Given the description of an element on the screen output the (x, y) to click on. 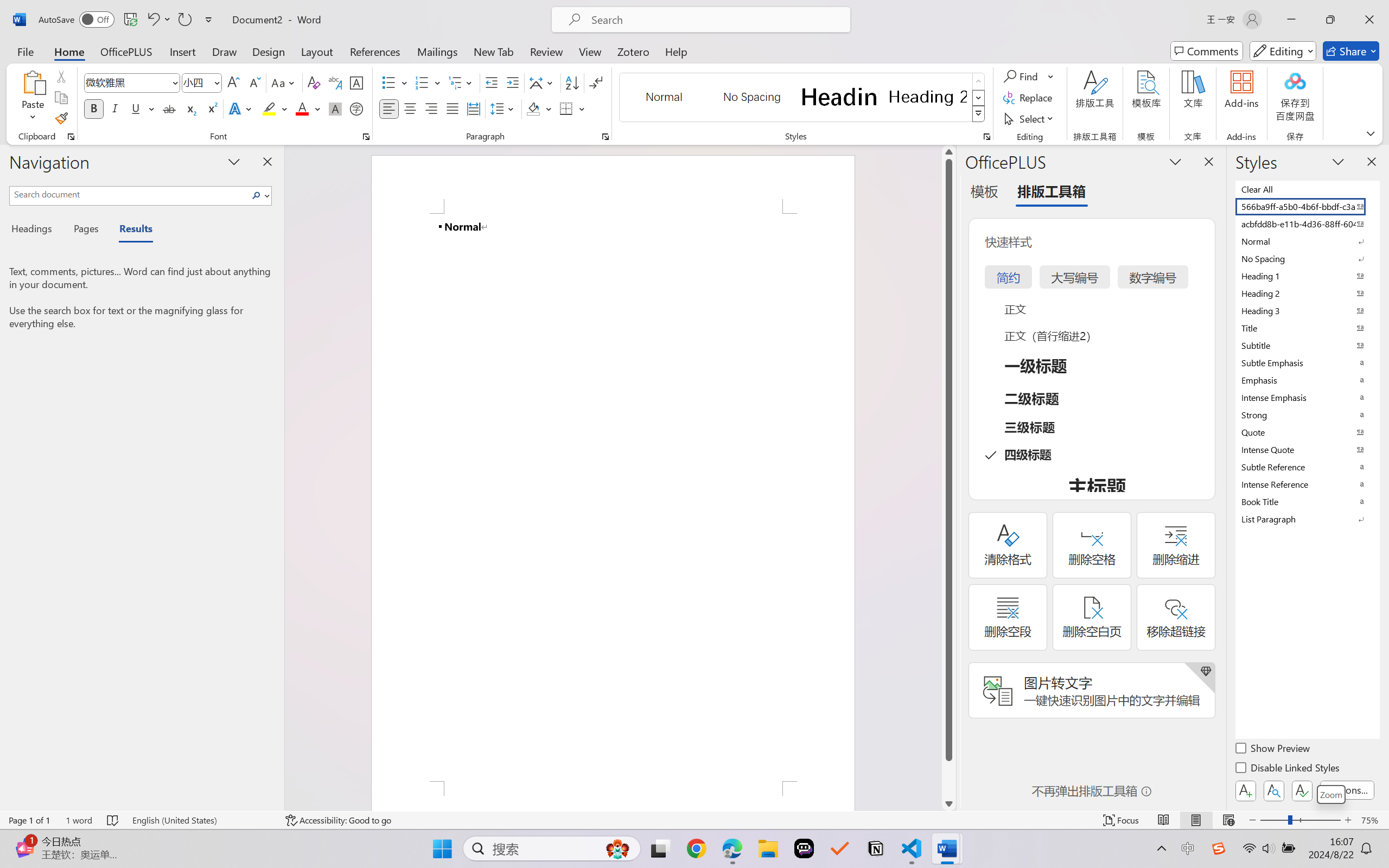
OfficePLUS (126, 51)
Superscript (210, 108)
Emphasis (1306, 379)
Shading (539, 108)
Line up (948, 151)
Intense Quote (1306, 449)
Disable Linked Styles (1287, 769)
Text Highlight Color (274, 108)
Replace... (1029, 97)
Paste (33, 97)
Subtitle (1306, 345)
Text Effects and Typography (241, 108)
Multilevel List (461, 82)
